Given the description of an element on the screen output the (x, y) to click on. 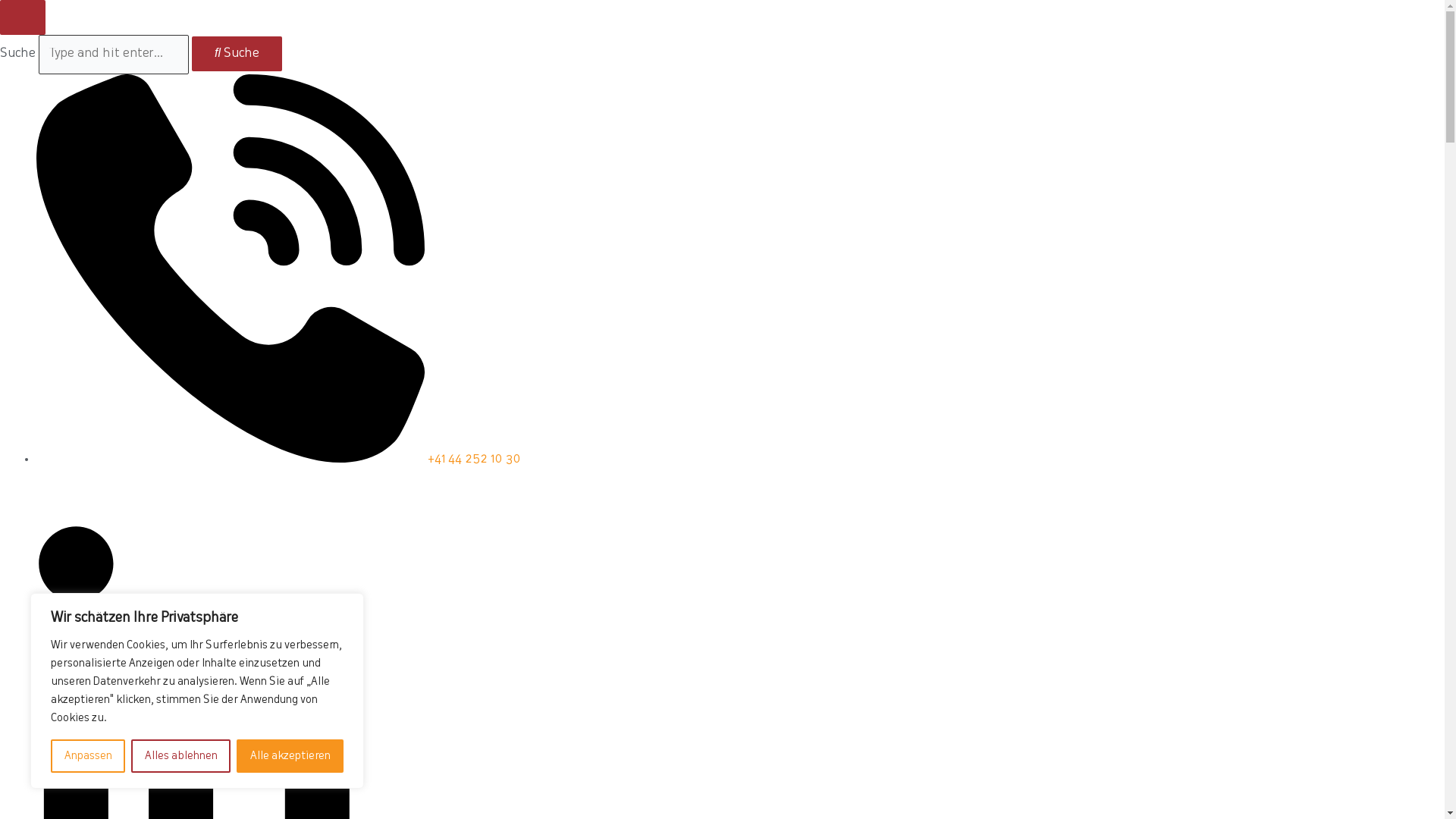
Suche Element type: text (236, 53)
+41 44 252 10 30 Element type: text (278, 459)
Alles ablehnen Element type: text (180, 755)
Anpassen Element type: text (87, 755)
Alle akzeptieren Element type: text (289, 755)
